Given the description of an element on the screen output the (x, y) to click on. 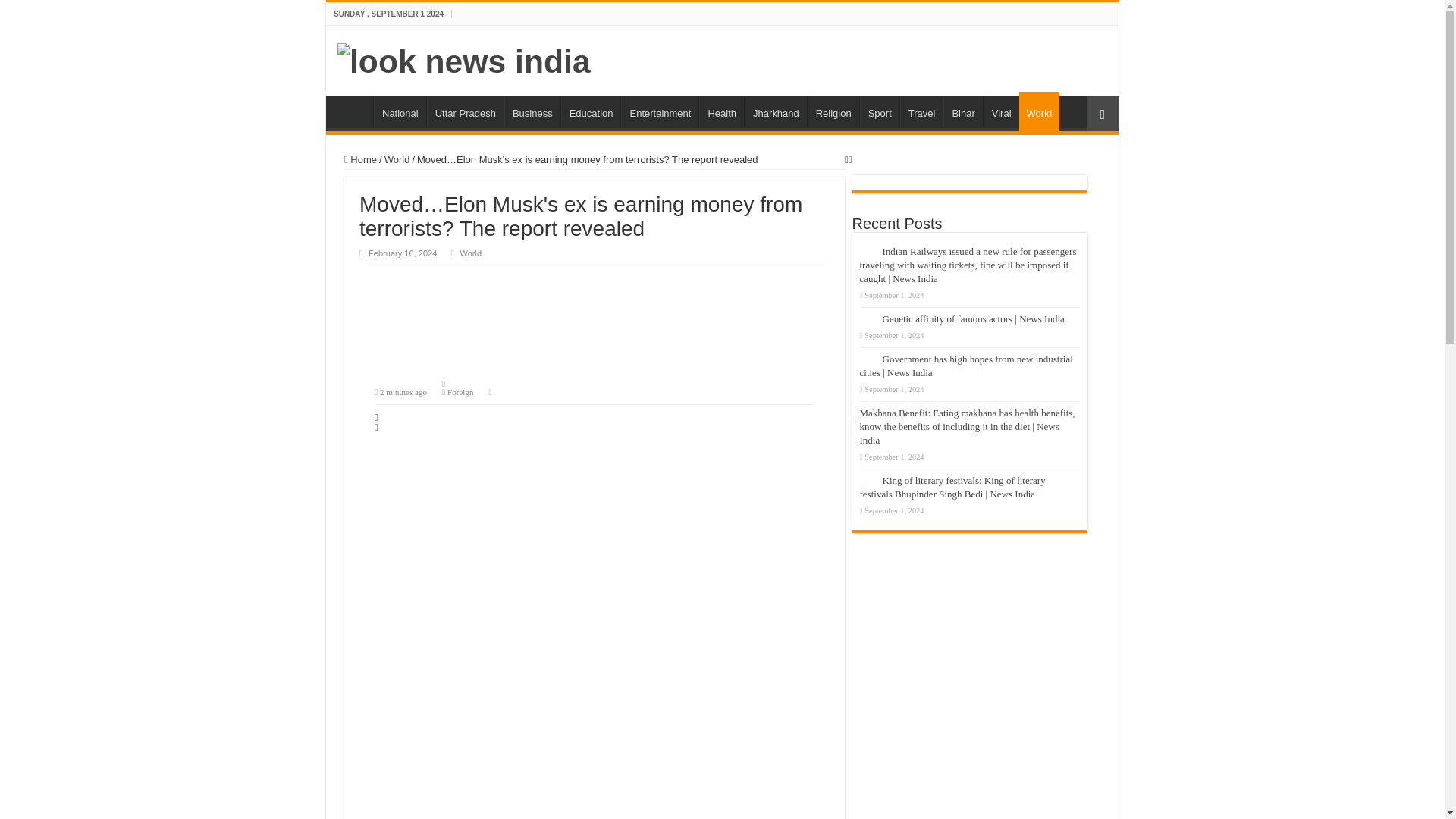
Foreign (459, 391)
Home (360, 159)
World (397, 159)
Entertainment (659, 111)
Travel (921, 111)
Viral (1001, 111)
Sport (879, 111)
Random Article (1102, 113)
National (400, 111)
Religion (833, 111)
